Given the description of an element on the screen output the (x, y) to click on. 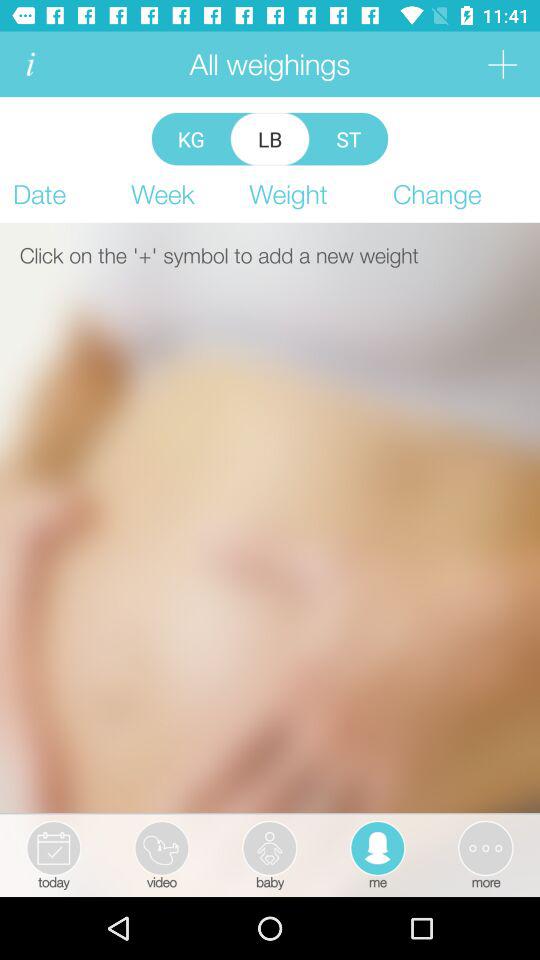
select the icon above week app (190, 138)
